Given the description of an element on the screen output the (x, y) to click on. 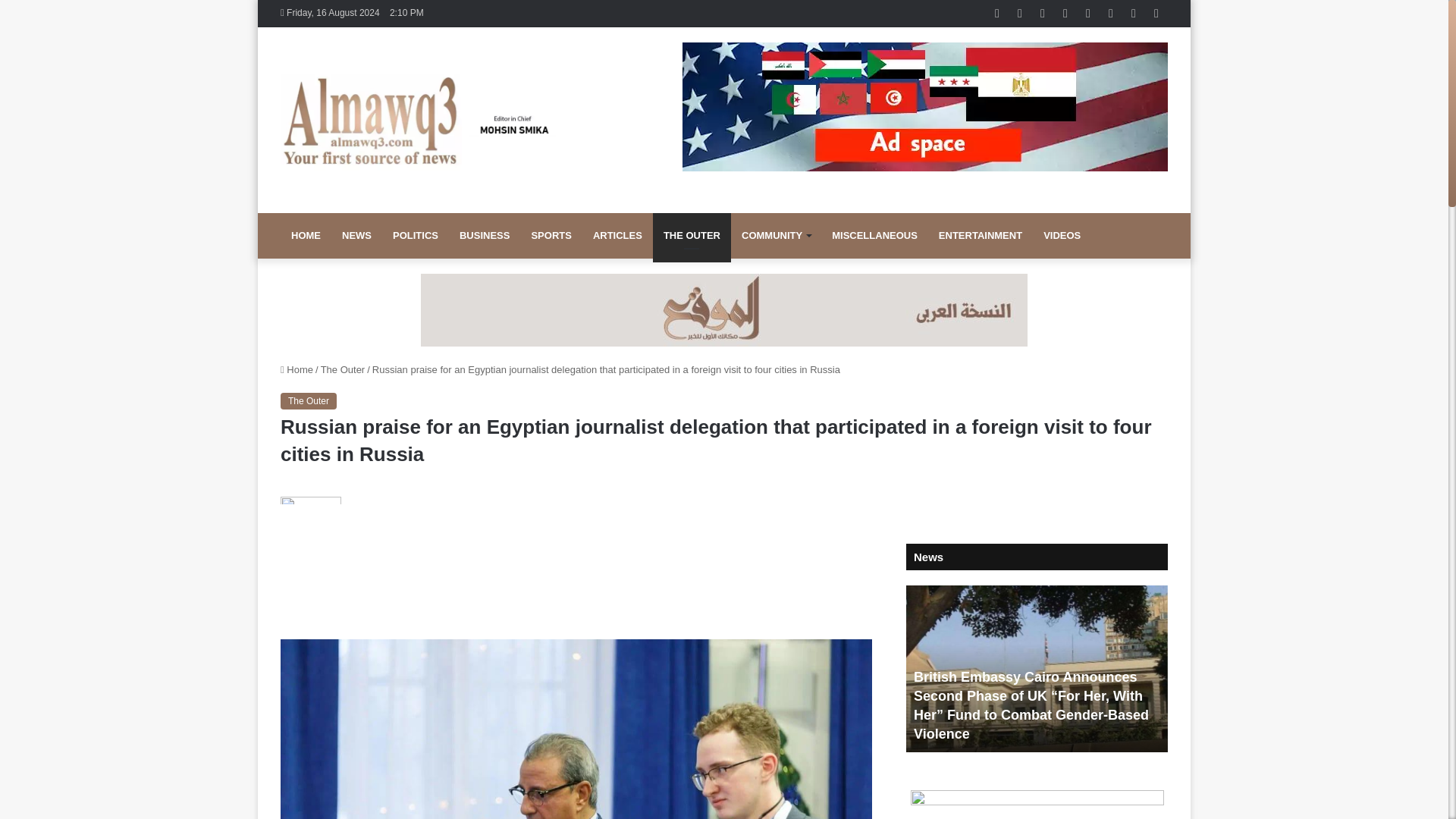
POLITICS (414, 235)
HOME (306, 235)
VIDEOS (1061, 235)
SPORTS (549, 235)
Home (297, 369)
THE OUTER (691, 235)
COMMUNITY (775, 235)
ARTICLES (617, 235)
The Outer (342, 369)
The Outer (308, 401)
